Given the description of an element on the screen output the (x, y) to click on. 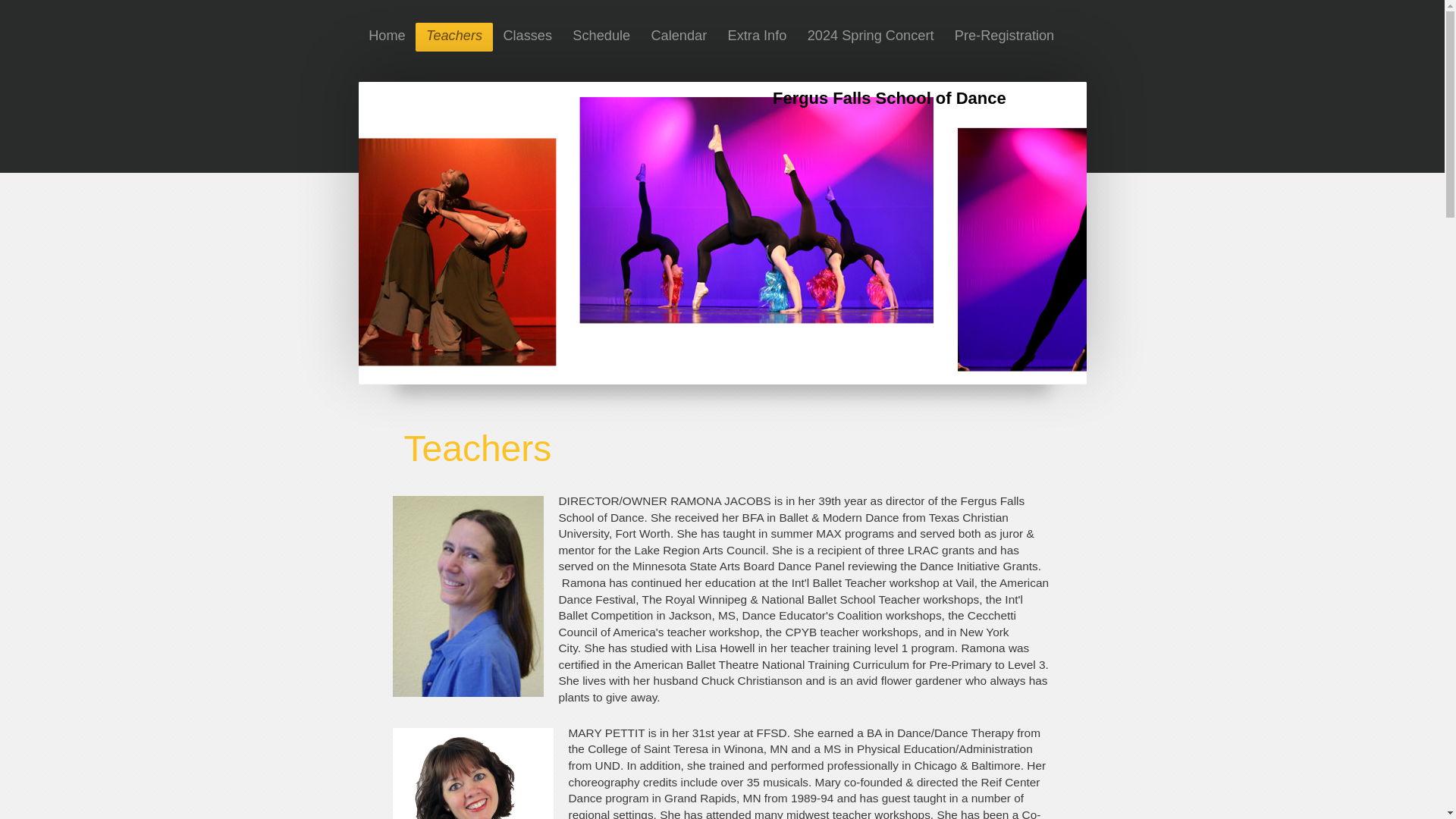
Extra Info (756, 36)
Classes (527, 36)
2024 Spring Concert (869, 36)
Home (386, 36)
Schedule (601, 36)
Teachers (453, 36)
Calendar (678, 36)
Pre-Registration (1003, 36)
Fergus Falls School of Dance (889, 97)
